Given the description of an element on the screen output the (x, y) to click on. 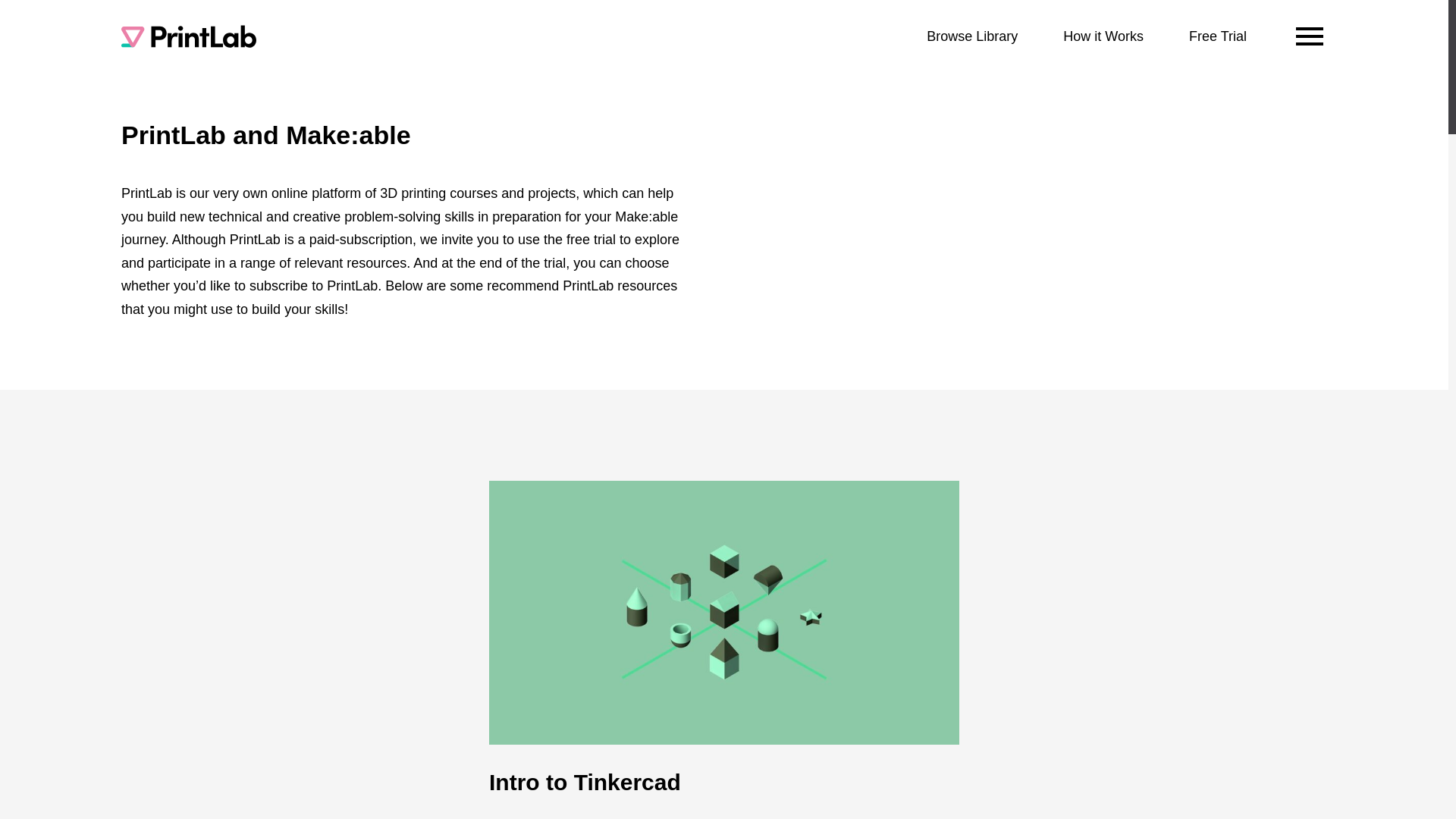
How it Works (1102, 35)
Browse Library (972, 35)
Free Trial (1217, 35)
Menu (1309, 35)
